Given the description of an element on the screen output the (x, y) to click on. 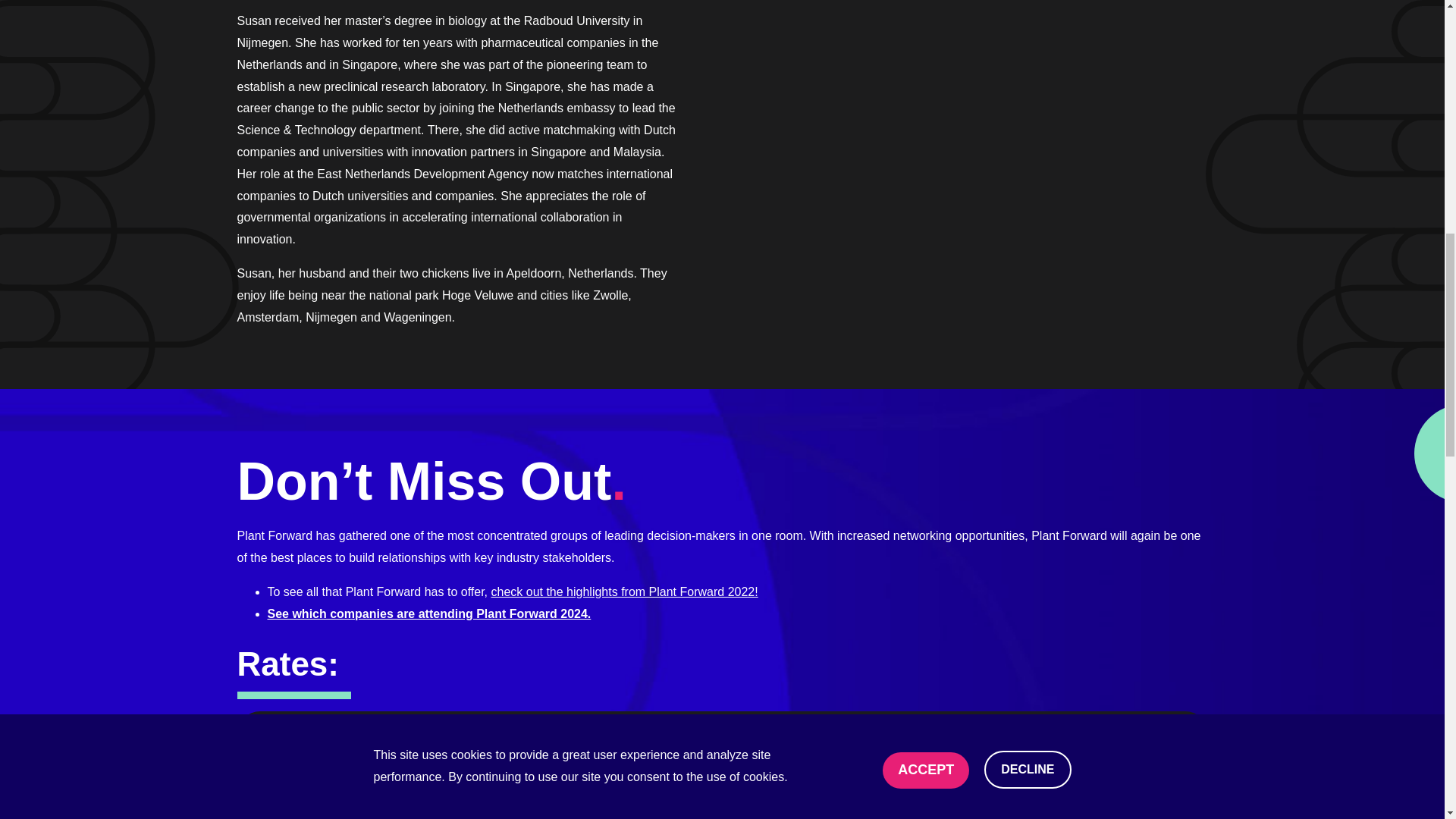
check out the highlights from Plant Forward 2022! (623, 591)
See which companies are attending Plant Forward 2024. (428, 613)
